Given the description of an element on the screen output the (x, y) to click on. 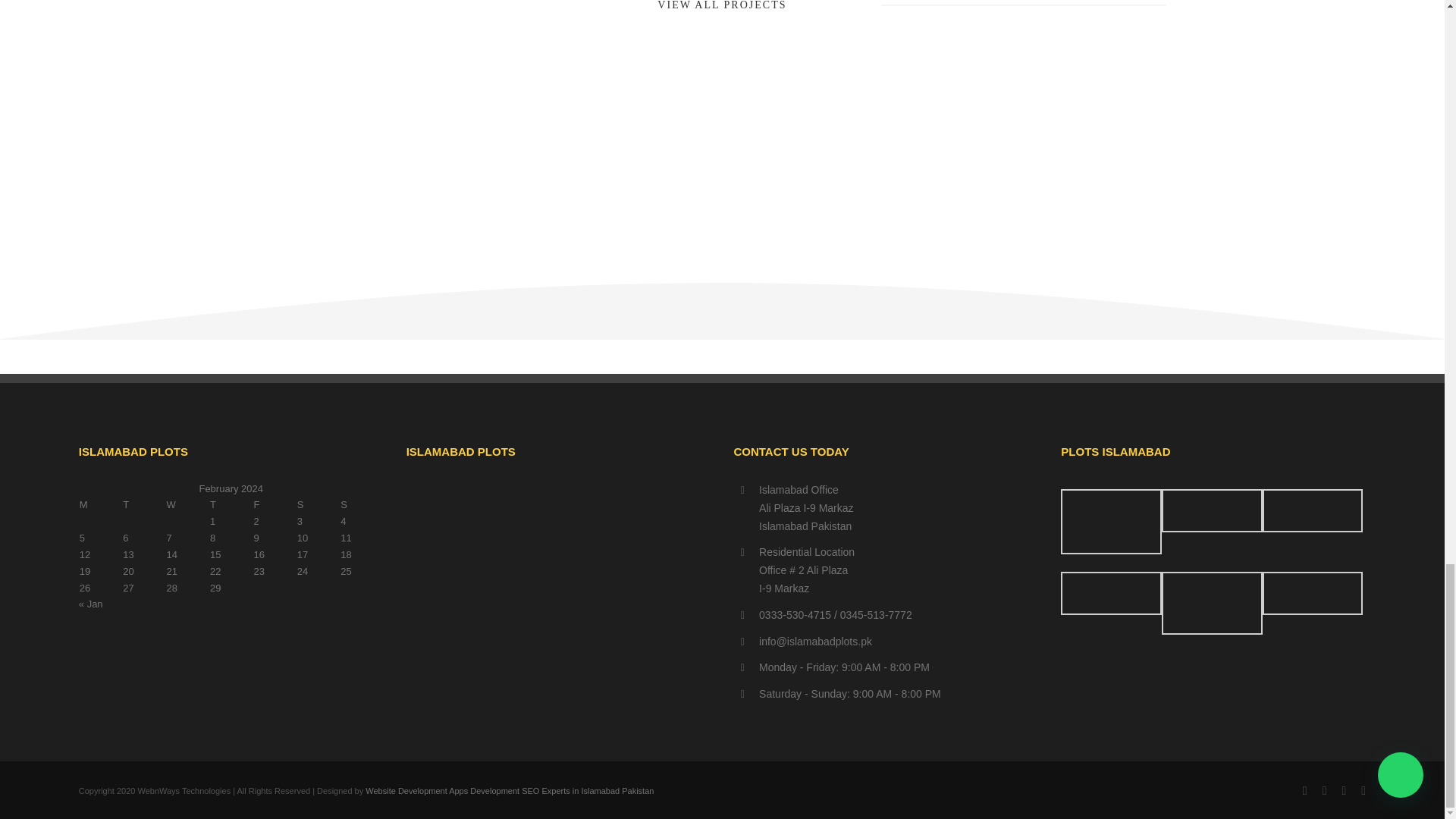
Monday (100, 504)
Thursday (230, 504)
Sunday (360, 504)
Wednesday (187, 504)
Saturday (318, 504)
Friday (273, 504)
Tuesday (143, 504)
